Given the description of an element on the screen output the (x, y) to click on. 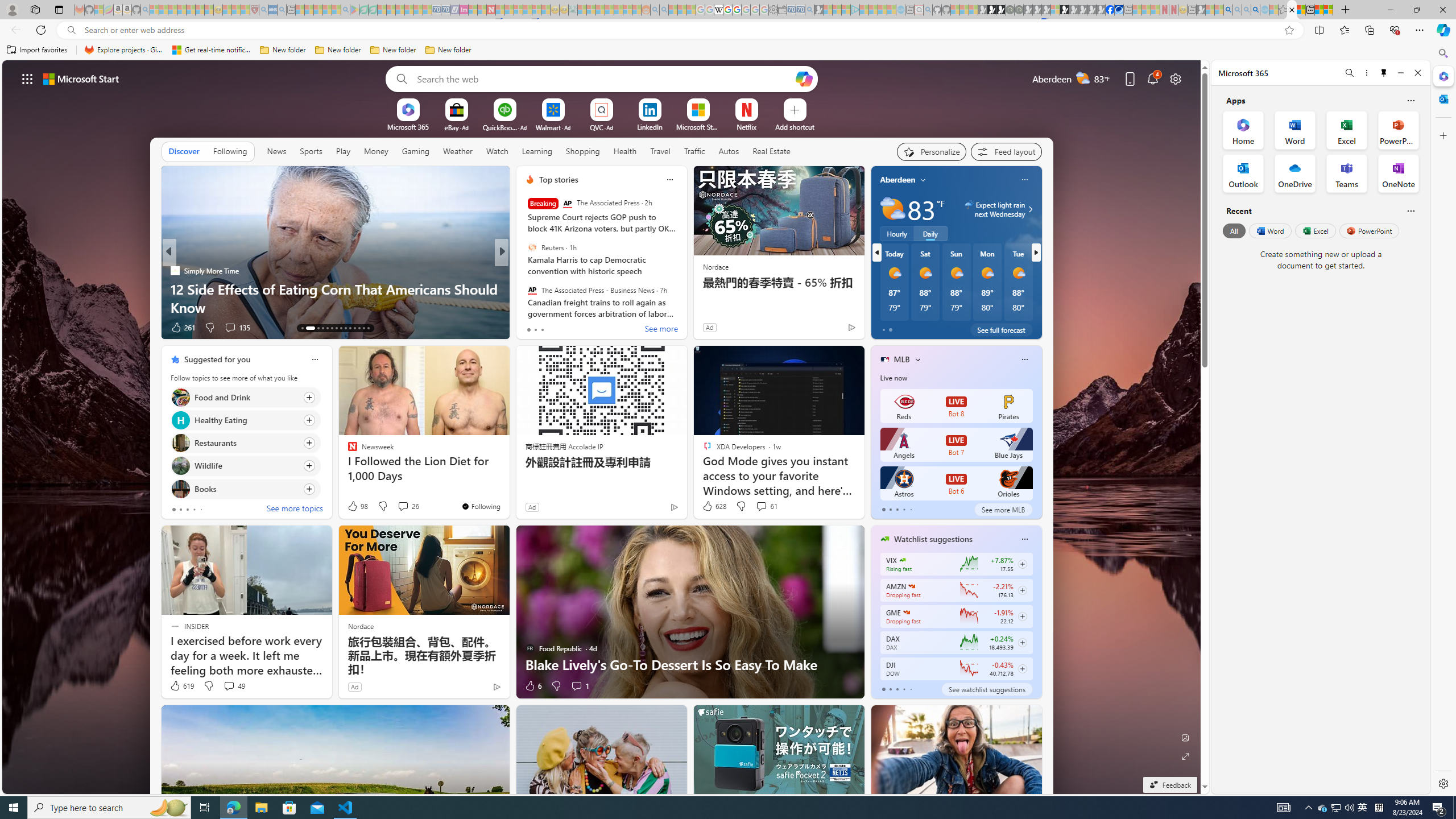
Outlook Office App (1243, 172)
Expect light rain next Wednesday (1028, 208)
Top stories (558, 179)
AirNow.gov (1118, 9)
Ad Choice (496, 686)
Play (342, 151)
INSIDER (524, 270)
Play Zoo Boom in your browser | Games from Microsoft Start (991, 9)
Bluey: Let's Play! - Apps on Google Play - Sleeping (354, 9)
Microsoft Start Gaming - Sleeping (818, 9)
Reds LIVE Bot 8 Pirates (955, 406)
tab-4 (910, 689)
